Given the description of an element on the screen output the (x, y) to click on. 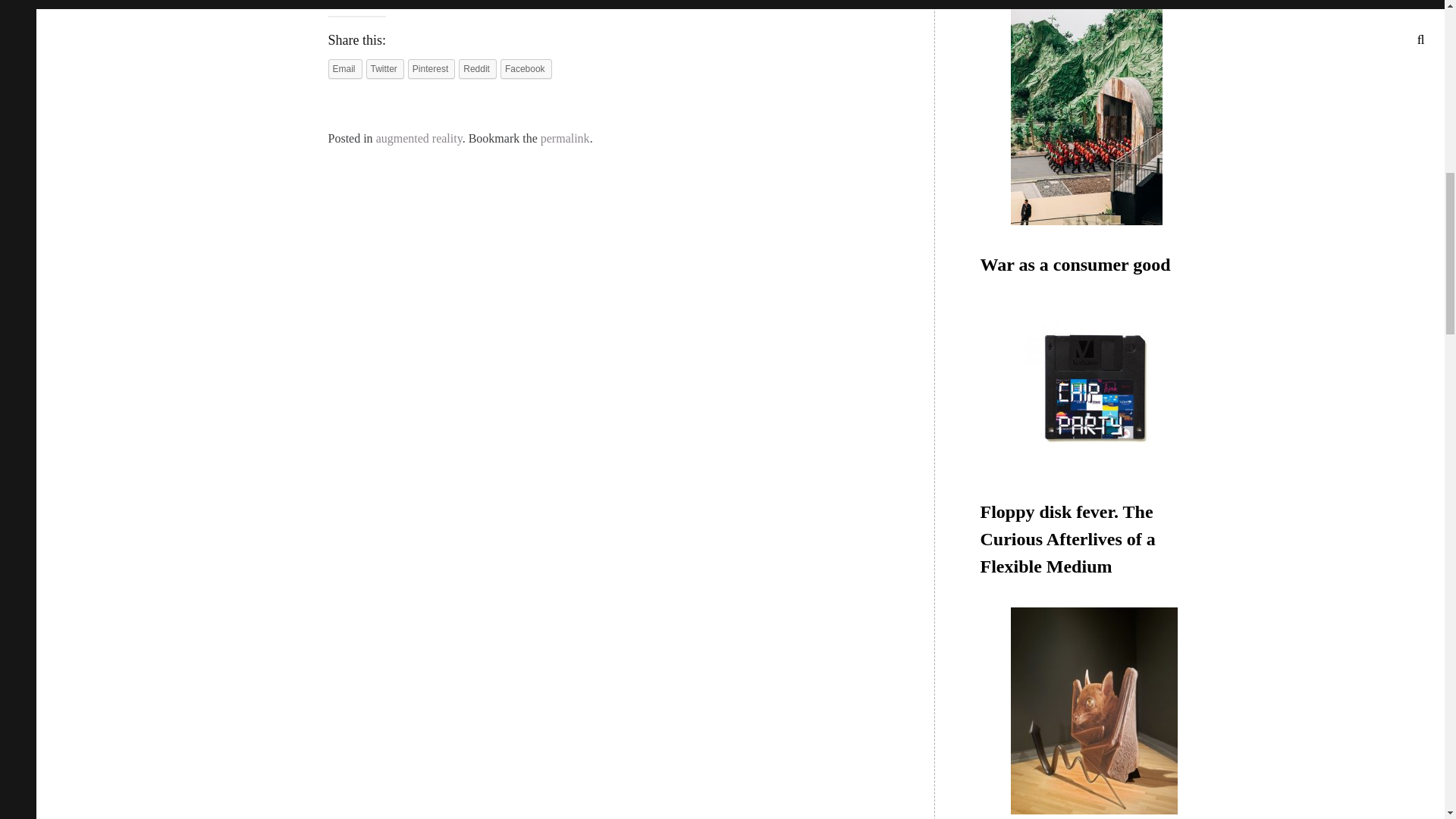
Email (344, 68)
Click to email a link to a friend (344, 68)
Click to share on Facebook (525, 68)
Reddit (477, 68)
permalink (564, 137)
Click to share on Pinterest (430, 68)
Click to share on Reddit (477, 68)
Pinterest (430, 68)
Twitter (385, 68)
View all posts in augmented reality (419, 137)
